Given the description of an element on the screen output the (x, y) to click on. 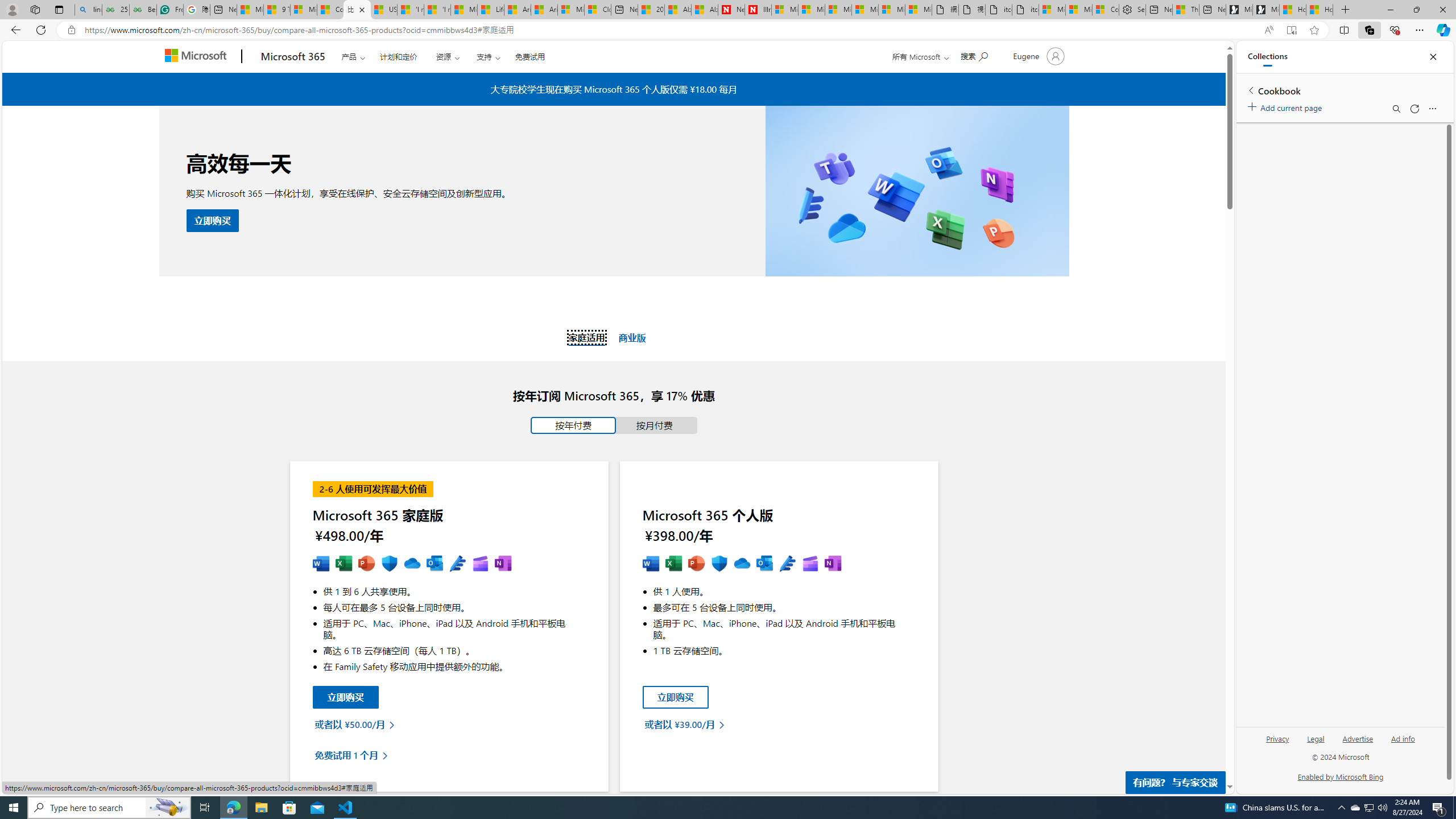
MS Clipchamp (809, 563)
Newsweek - News, Analysis, Politics, Business, Technology (731, 9)
